Given the description of an element on the screen output the (x, y) to click on. 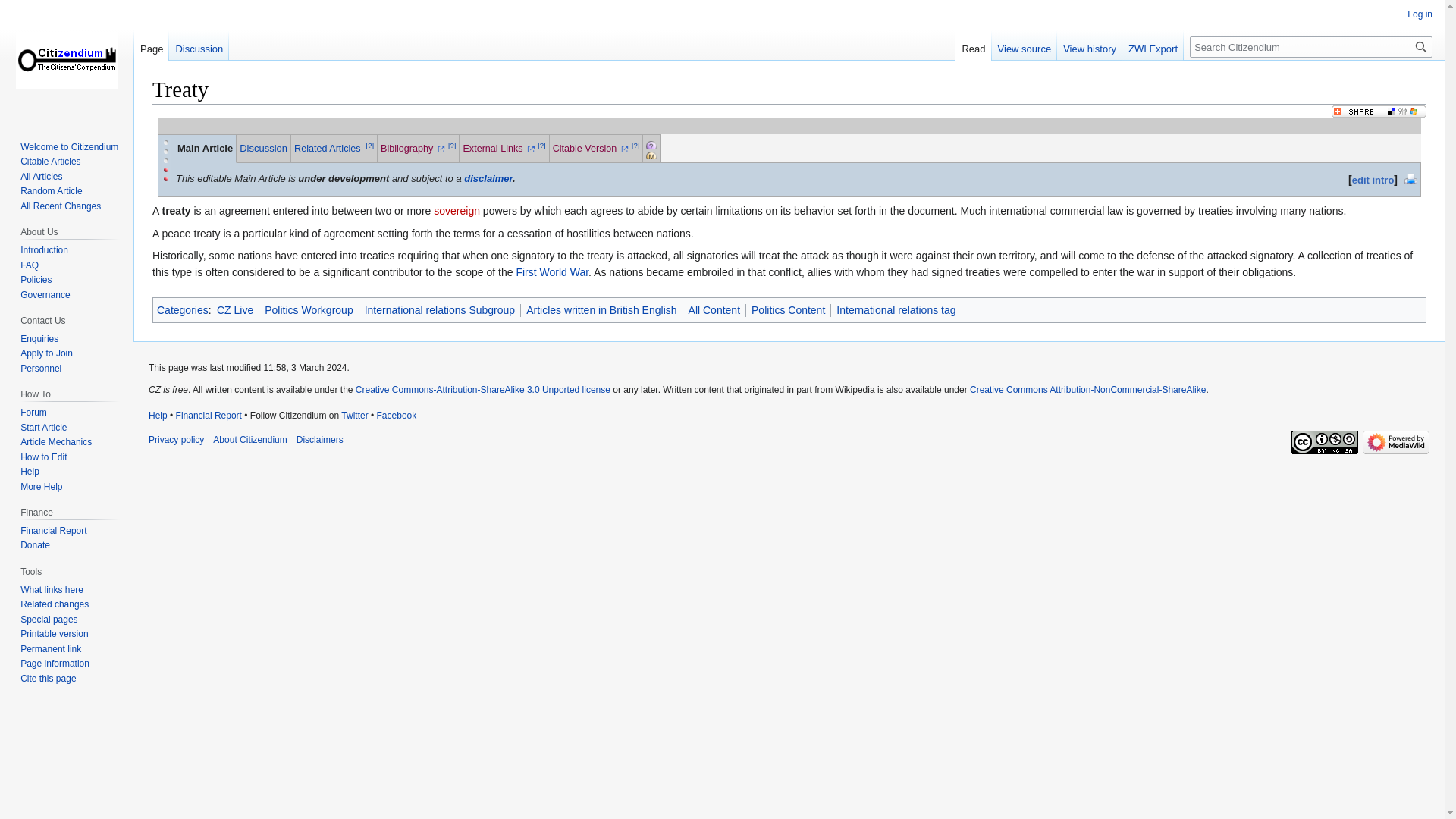
CZ:Disclaimer (488, 178)
disclaimer (488, 178)
Discussion (263, 147)
CZ:Subpages (666, 143)
Go To Page (1420, 46)
Citable Version (590, 148)
International relations Subgroup (440, 309)
External Links (498, 148)
CZ:Subpages (651, 145)
Log in (1419, 14)
Discussion (198, 45)
Main Article (204, 147)
Related Articles (328, 148)
Search (1420, 46)
First World War (551, 272)
